Given the description of an element on the screen output the (x, y) to click on. 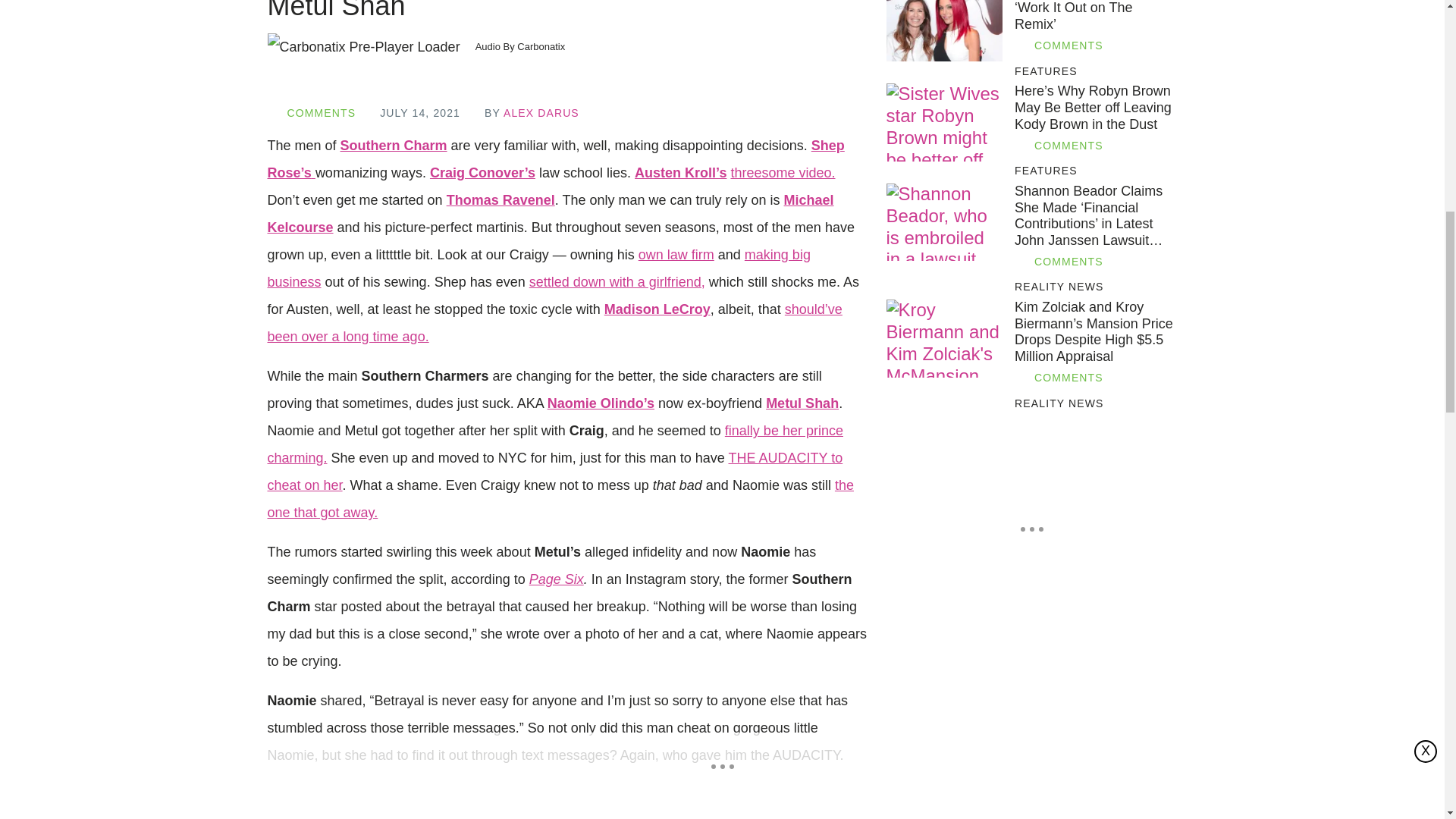
Southern Charm (393, 145)
settled down with a girlfriend, (616, 281)
threesome video. (782, 172)
own law firm (676, 254)
Page Six (556, 579)
making big business (537, 268)
the one that got away. (559, 498)
Michael Kelcourse (549, 213)
finally be her prince charming. (554, 444)
Thomas Ravenel (500, 200)
